Given the description of an element on the screen output the (x, y) to click on. 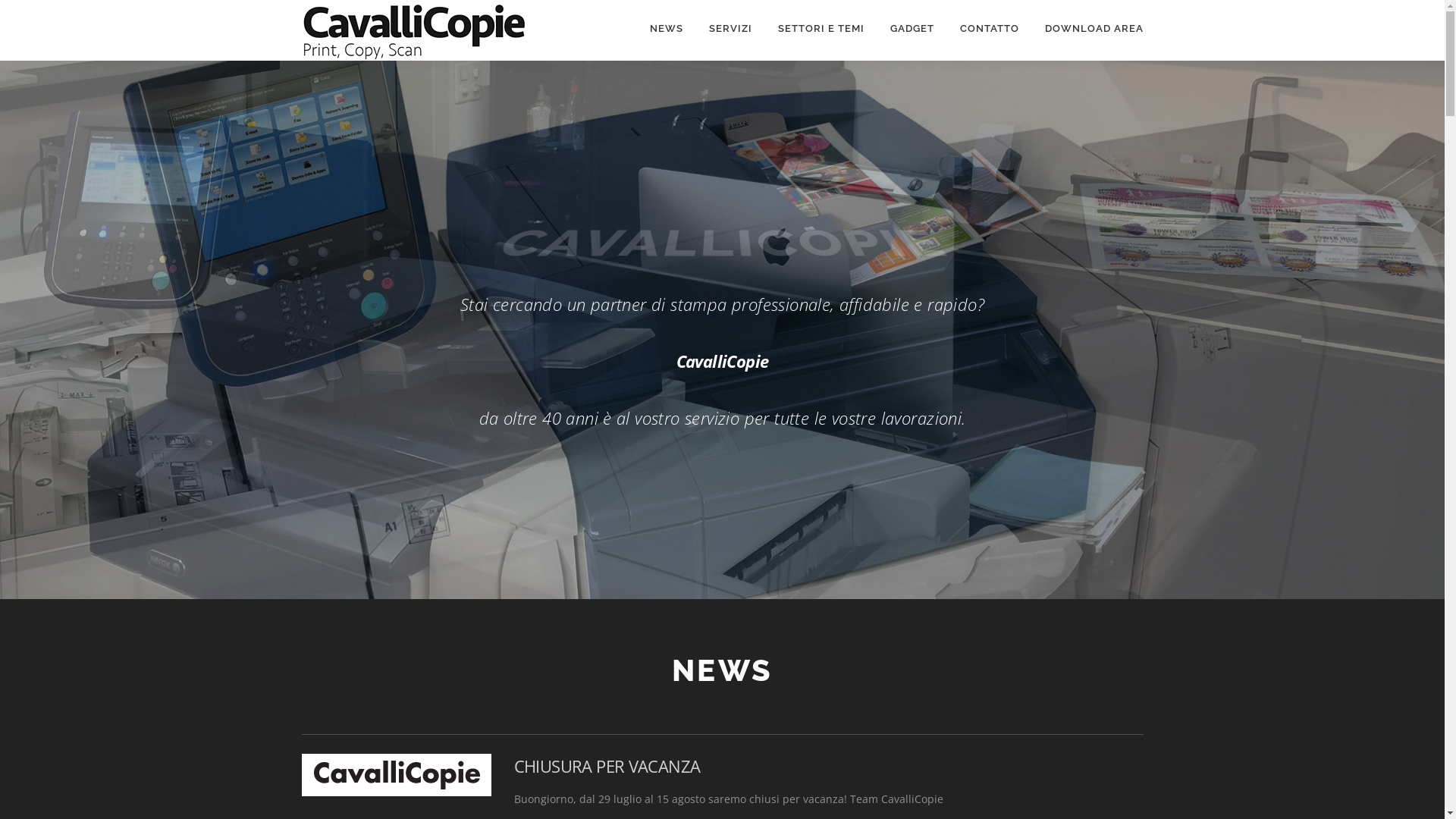
SETTORI E TEMI Element type: text (820, 28)
CHIUSURA PER VACANZA Element type: text (607, 765)
SERVIZI Element type: text (730, 28)
DOWNLOAD AREA Element type: text (1086, 28)
GADGET Element type: text (911, 28)
NEWS Element type: text (666, 28)
CONTATTO Element type: text (988, 28)
